Given the description of an element on the screen output the (x, y) to click on. 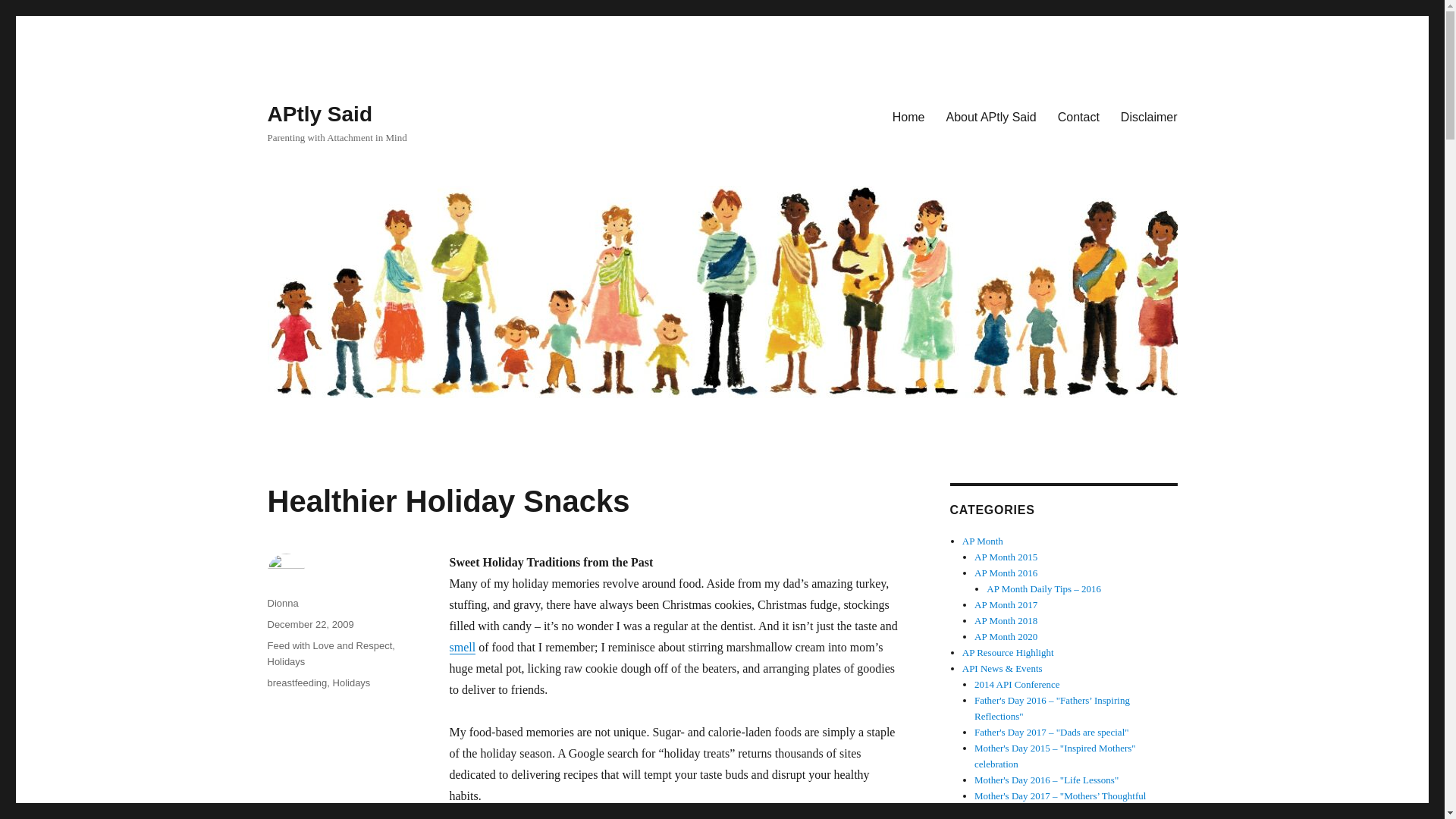
Feed with Love and Respect (328, 645)
Holidays (352, 682)
Dionna (282, 603)
December 22, 2009 (309, 624)
About APtly Said (991, 116)
breastfeeding (296, 682)
Disclaimer (1148, 116)
Home (909, 116)
smell (462, 646)
APtly Said (318, 114)
Holidays (285, 661)
Contact (1077, 116)
